Given the description of an element on the screen output the (x, y) to click on. 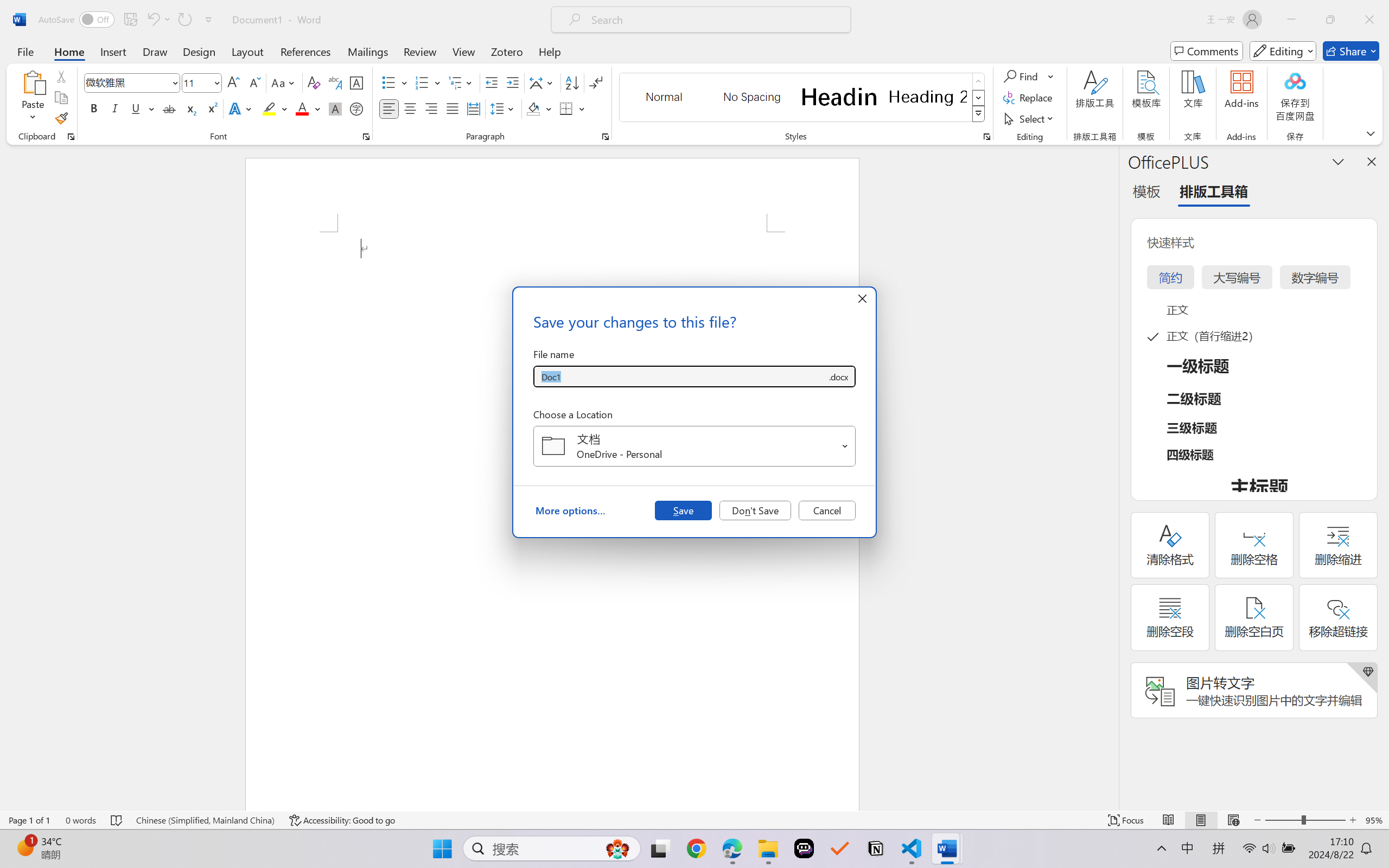
Language Chinese (Simplified, Mainland China) (205, 819)
